Given the description of an element on the screen output the (x, y) to click on. 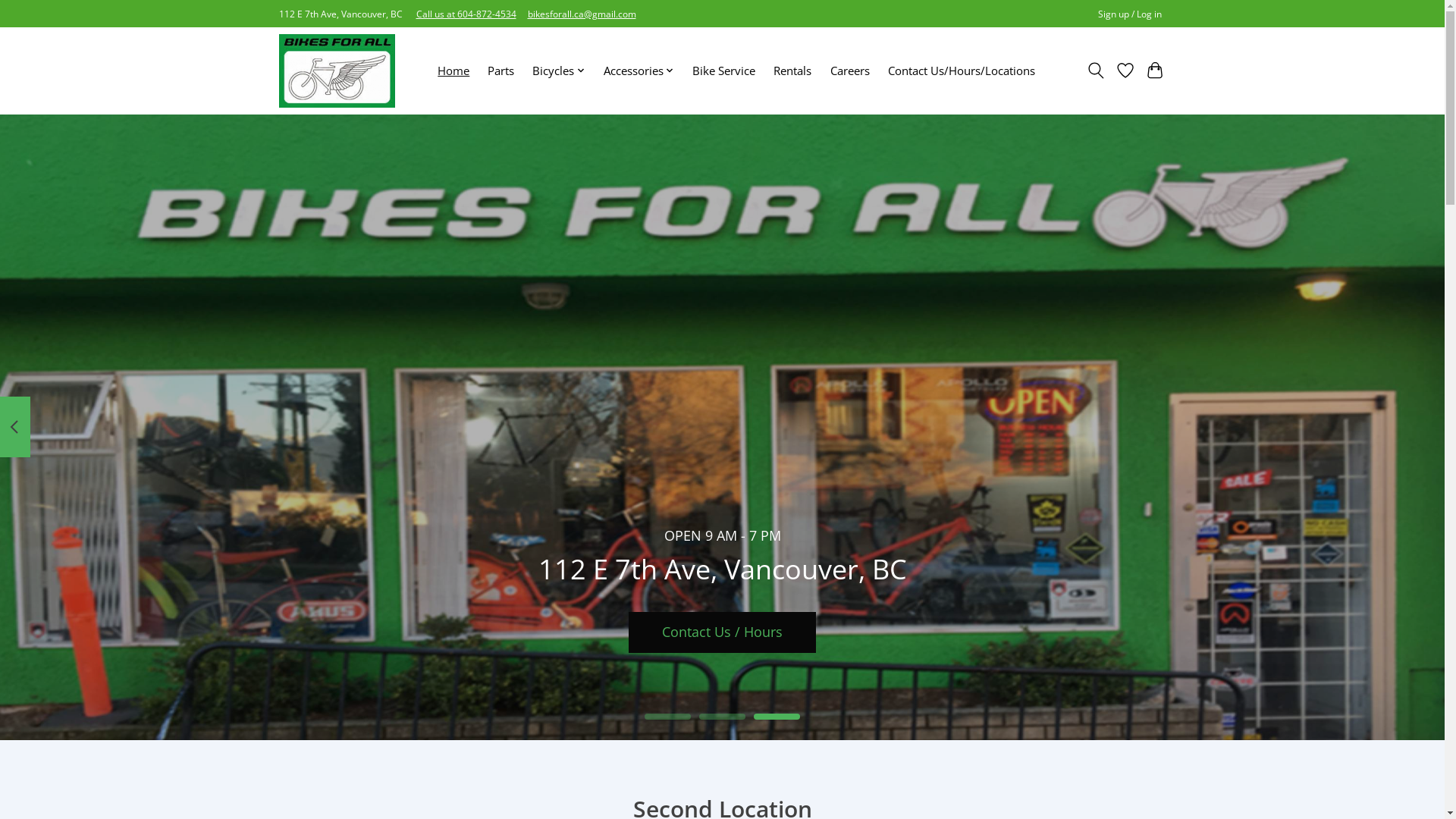
Accessories Element type: text (639, 70)
Rentals Element type: text (792, 70)
bikesforall.ca@gmail.com Element type: text (581, 13)
Bike Service Element type: text (723, 70)
Sign up / Log in Element type: text (1129, 13)
Call us at 604-872-4534 Element type: text (465, 13)
Home Element type: text (453, 70)
Contact Us / Hours Element type: text (721, 631)
Careers Element type: text (849, 70)
Bikes For All Element type: hover (337, 70)
Contact Us/Hours/Locations Element type: text (960, 70)
Parts Element type: text (500, 70)
Bicycles Element type: text (558, 70)
